Given the description of an element on the screen output the (x, y) to click on. 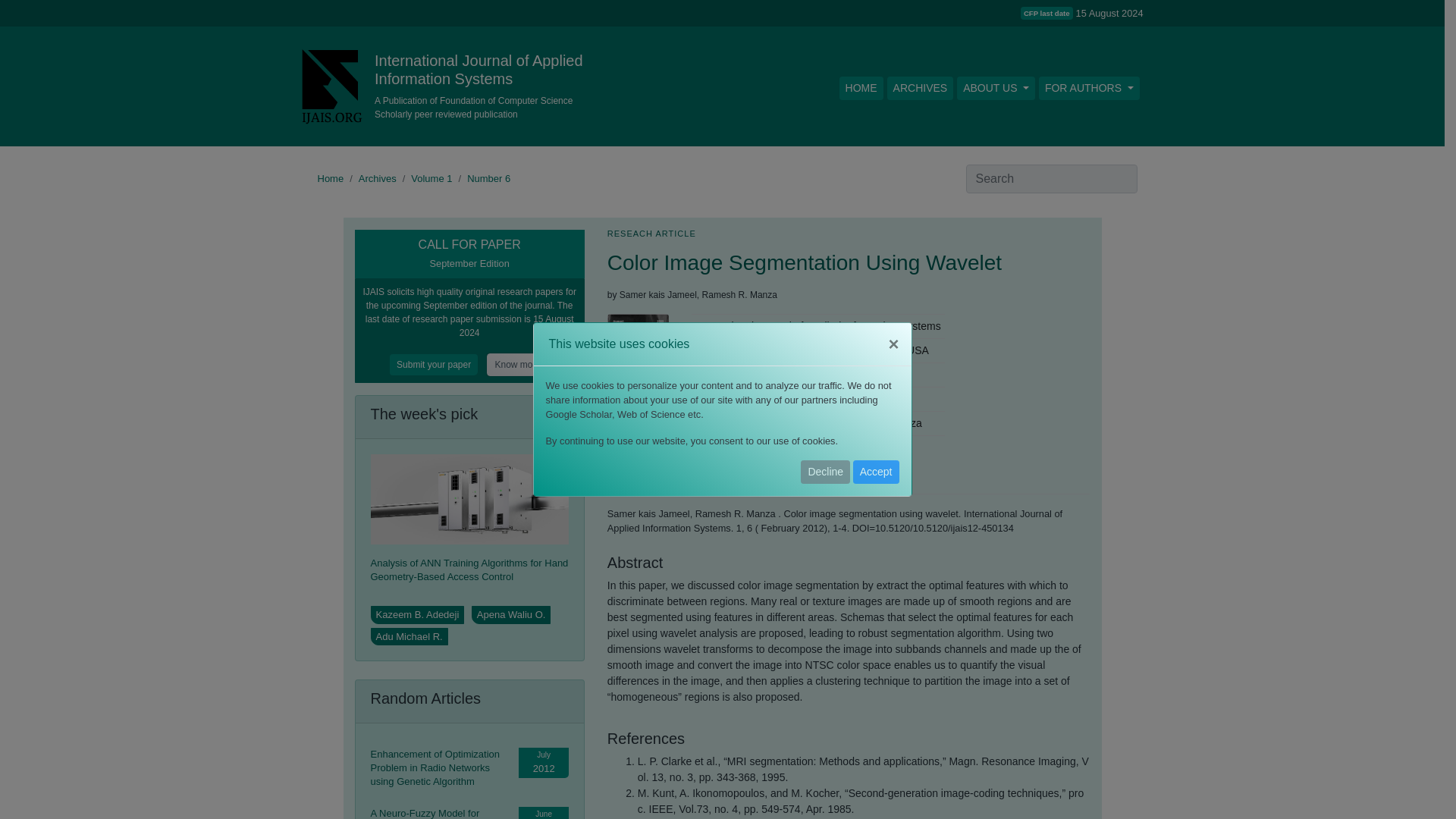
Decline (825, 472)
Volume 1 (430, 178)
Number 6 (489, 178)
ACMRef (635, 484)
Know more (518, 363)
HOME (861, 87)
Adu Michael R. (407, 637)
Apena Waliu O. (511, 615)
ABOUT US (995, 87)
Home (330, 178)
FOR AUTHORS (1089, 87)
Submit your paper (438, 363)
